Given the description of an element on the screen output the (x, y) to click on. 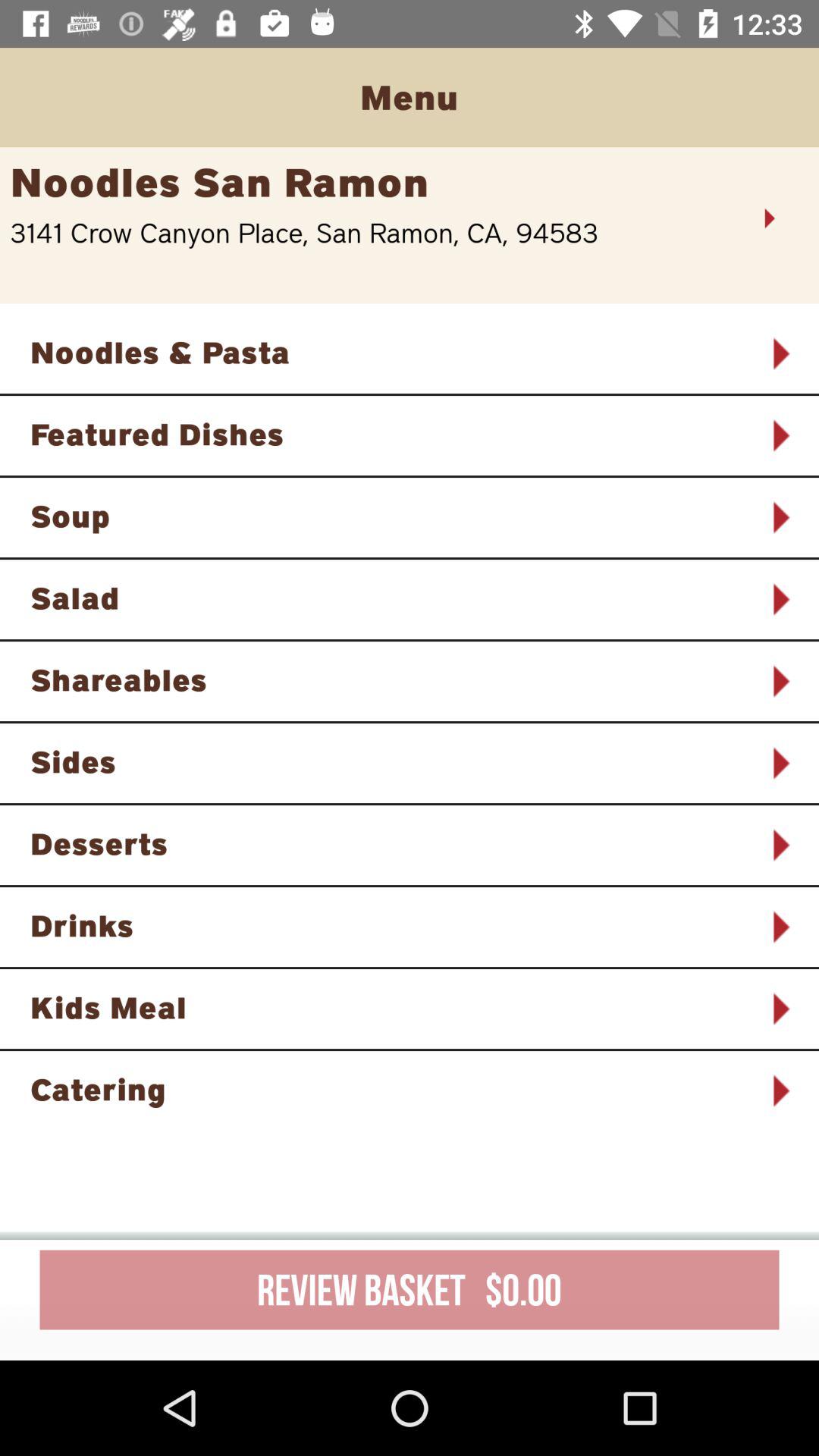
jump to drinks  icon (390, 925)
